Given the description of an element on the screen output the (x, y) to click on. 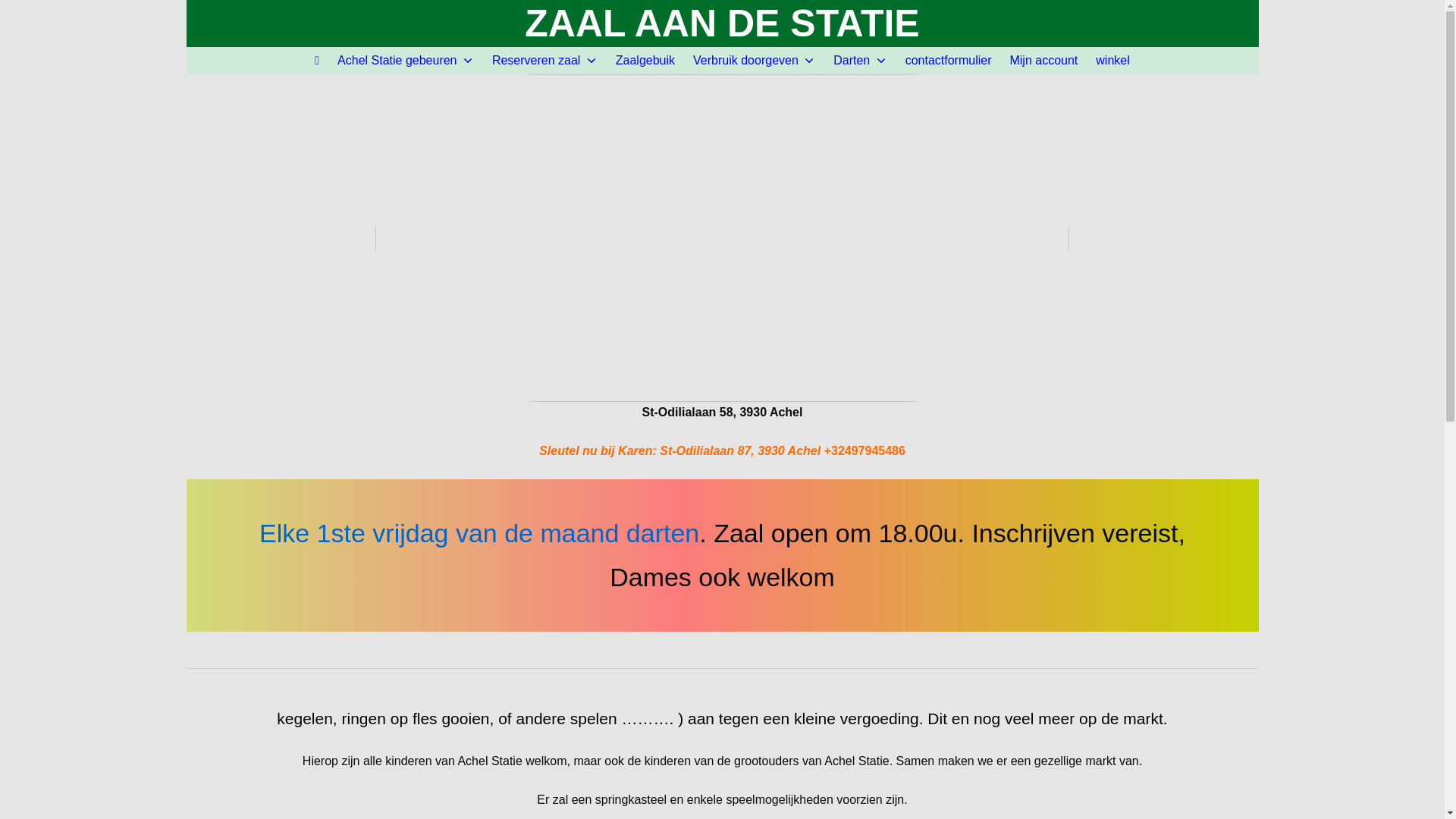
Elke 1ste vrijdag van de maand darten Element type: text (479, 532)
Darten Element type: text (859, 60)
Zoeken Element type: text (37, 15)
Achel Statie gebeuren Element type: text (405, 60)
winkel Element type: text (1112, 60)
Zaalgebuik Element type: text (645, 60)
contactformulier Element type: text (948, 60)
Reserveren zaal Element type: text (544, 60)
Verbruik doorgeven Element type: text (754, 60)
Mijn account Element type: text (1043, 60)
